Given the description of an element on the screen output the (x, y) to click on. 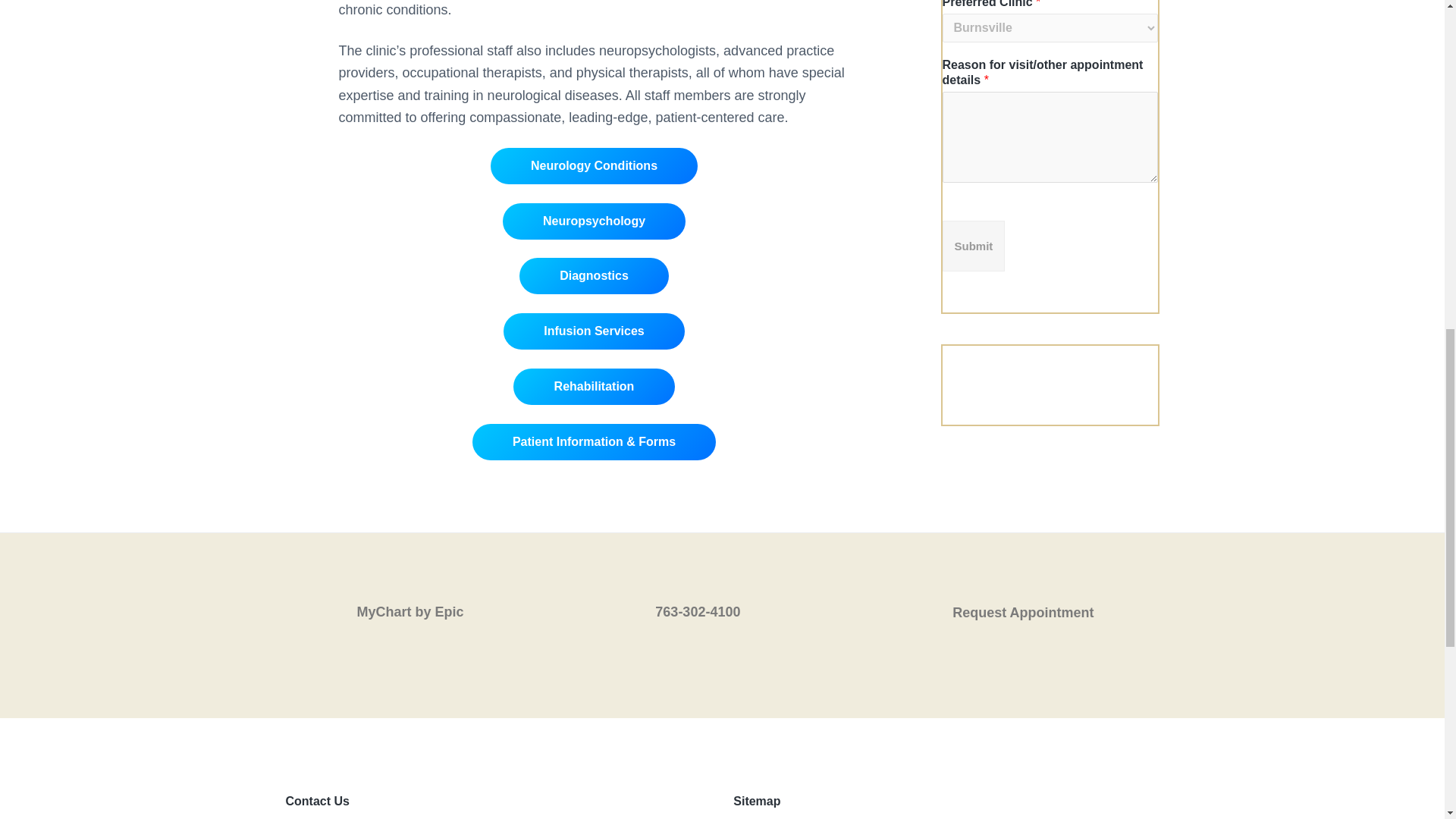
Rehabilitation (593, 386)
763-302-4100 (721, 606)
Neurology Conditions (594, 166)
Request Appointment (1020, 607)
MyChart by Epic (422, 606)
Diagnostics (593, 275)
Submit (973, 245)
Infusion Services (593, 330)
Neuropsychology (593, 221)
